Given the description of an element on the screen output the (x, y) to click on. 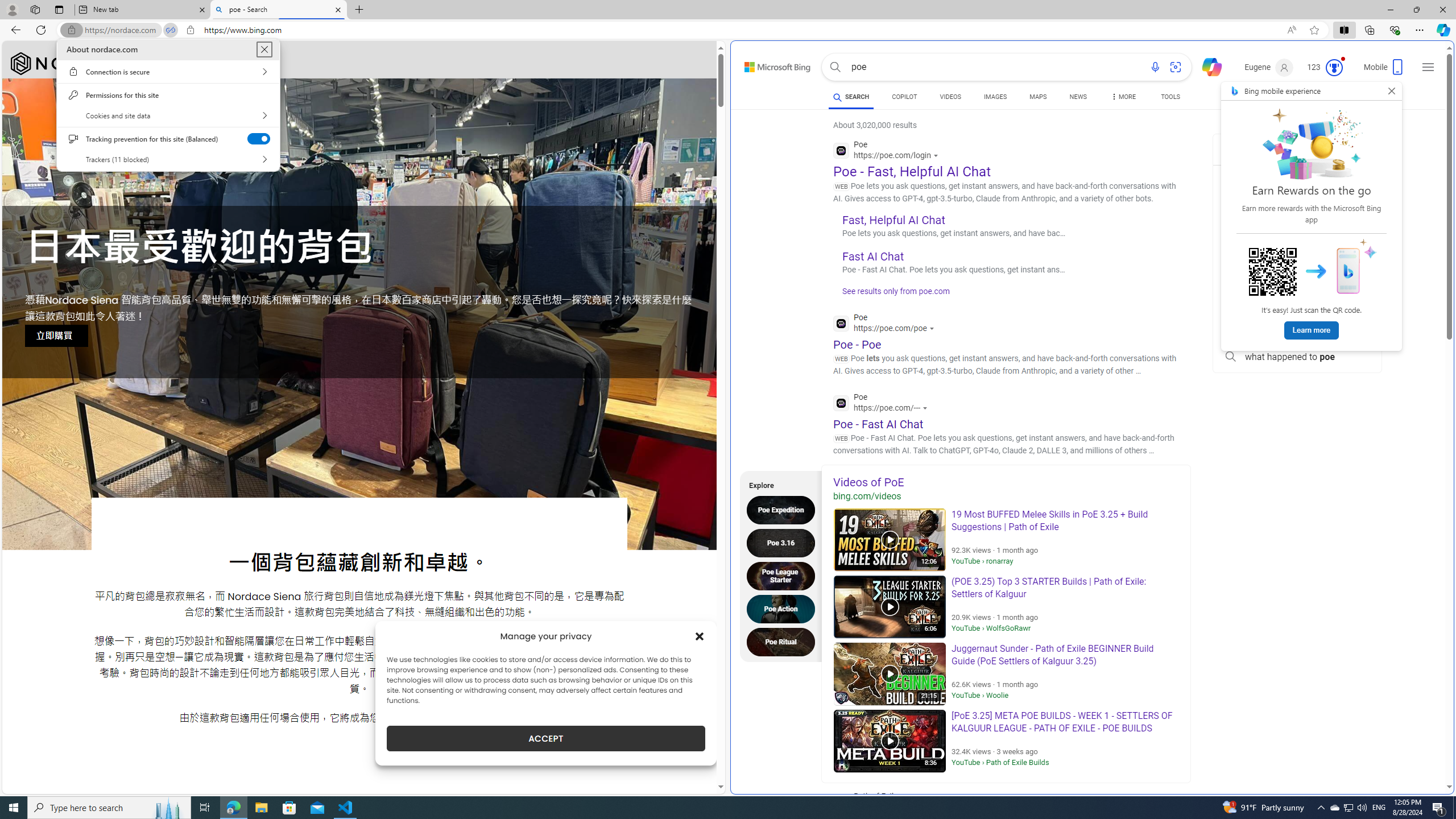
Type here to search (108, 807)
Q2790: 100% (1361, 807)
Scan me! (1273, 272)
Chat (1207, 65)
Search using an image (1174, 66)
Search highlights icon opens search home window (1333, 807)
Back to Bing search (167, 807)
IMAGES (770, 64)
